Given the description of an element on the screen output the (x, y) to click on. 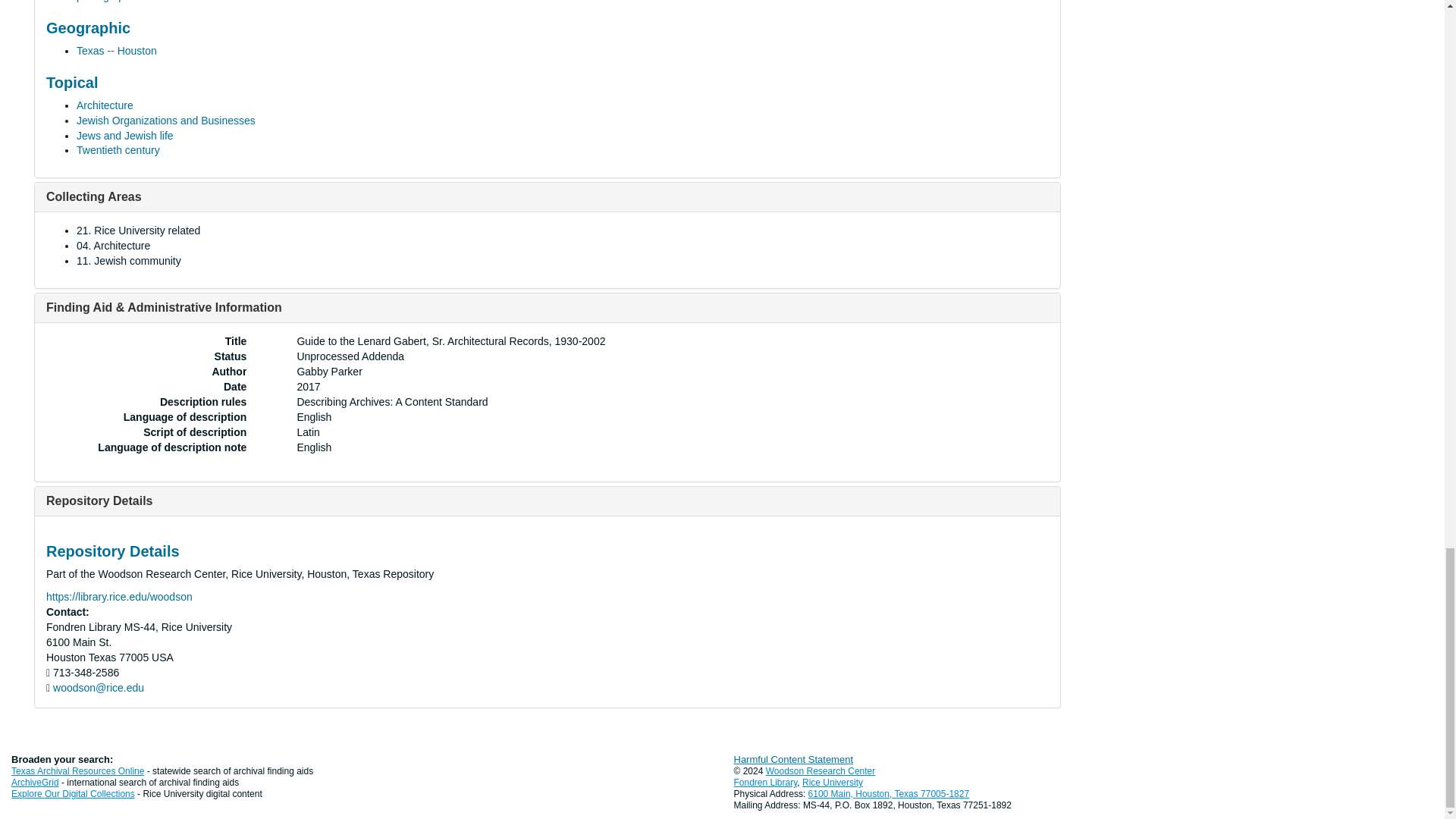
Architecture (105, 105)
Send email (98, 687)
Jews and Jewish life (125, 135)
Collecting Areas (93, 196)
Twentieth century (118, 150)
04. Architecture (113, 245)
photographs (106, 1)
11. Jewish community (128, 260)
Texas -- Houston (117, 50)
21. Rice University related (138, 230)
Jewish Organizations and Businesses (166, 120)
